Given the description of an element on the screen output the (x, y) to click on. 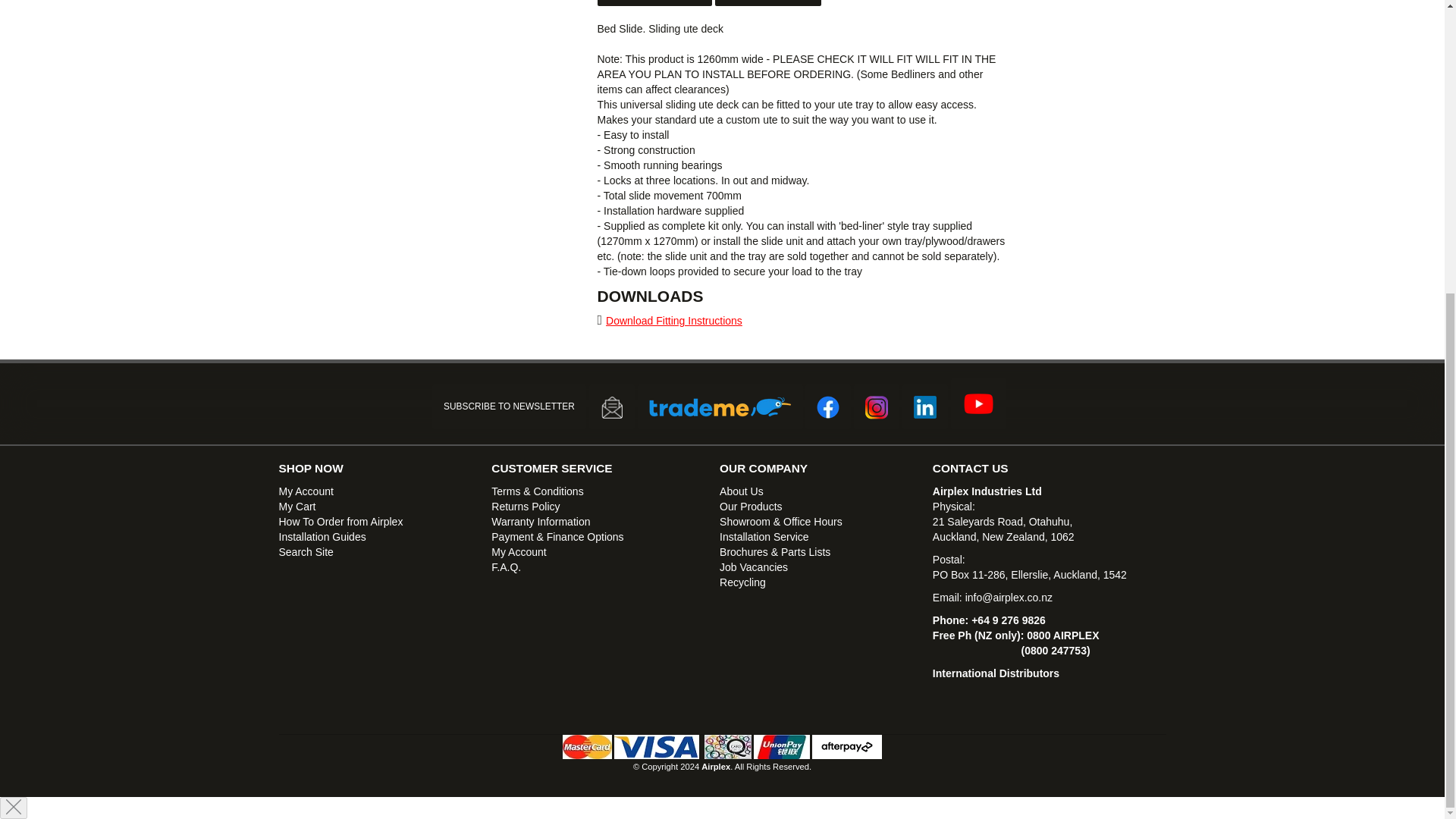
Search Site (306, 551)
How To Order from Airplex (341, 521)
Trademe (720, 406)
Add to Favourites (654, 2)
LinkedIn (924, 406)
MAKE AN ENQUIRY (767, 2)
Download Fitting Instructions (673, 320)
You Tube (978, 403)
Newsletter (611, 407)
Make an Enquiry (767, 2)
Instagram (876, 407)
Installation Guides (322, 536)
Newsletter (611, 406)
Afterpay how it works (847, 746)
airplex email (1008, 597)
